Given the description of an element on the screen output the (x, y) to click on. 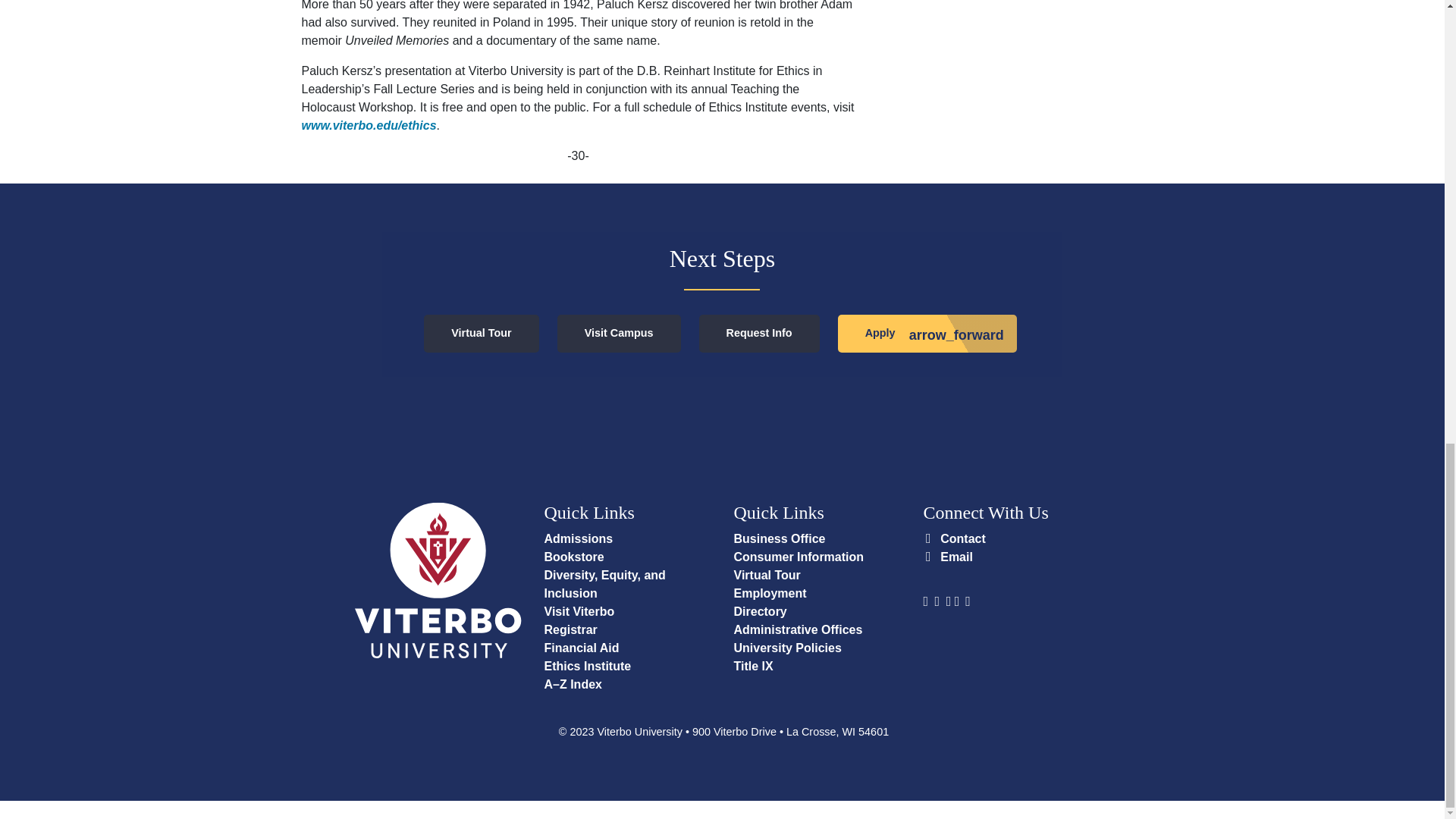
Apply (927, 333)
Registrar (570, 629)
Admissions (578, 538)
Financial Aid (582, 647)
Virtual Tour (480, 333)
Visit Viterbo (579, 611)
Consumer Information (798, 556)
Diversity, Equity, and Inclusion (604, 583)
Visit Campus (619, 333)
Request Info (758, 333)
Business Office (779, 538)
Bookstore (574, 556)
Virtual Tour (766, 574)
Ethics Institute (587, 666)
